Given the description of an element on the screen output the (x, y) to click on. 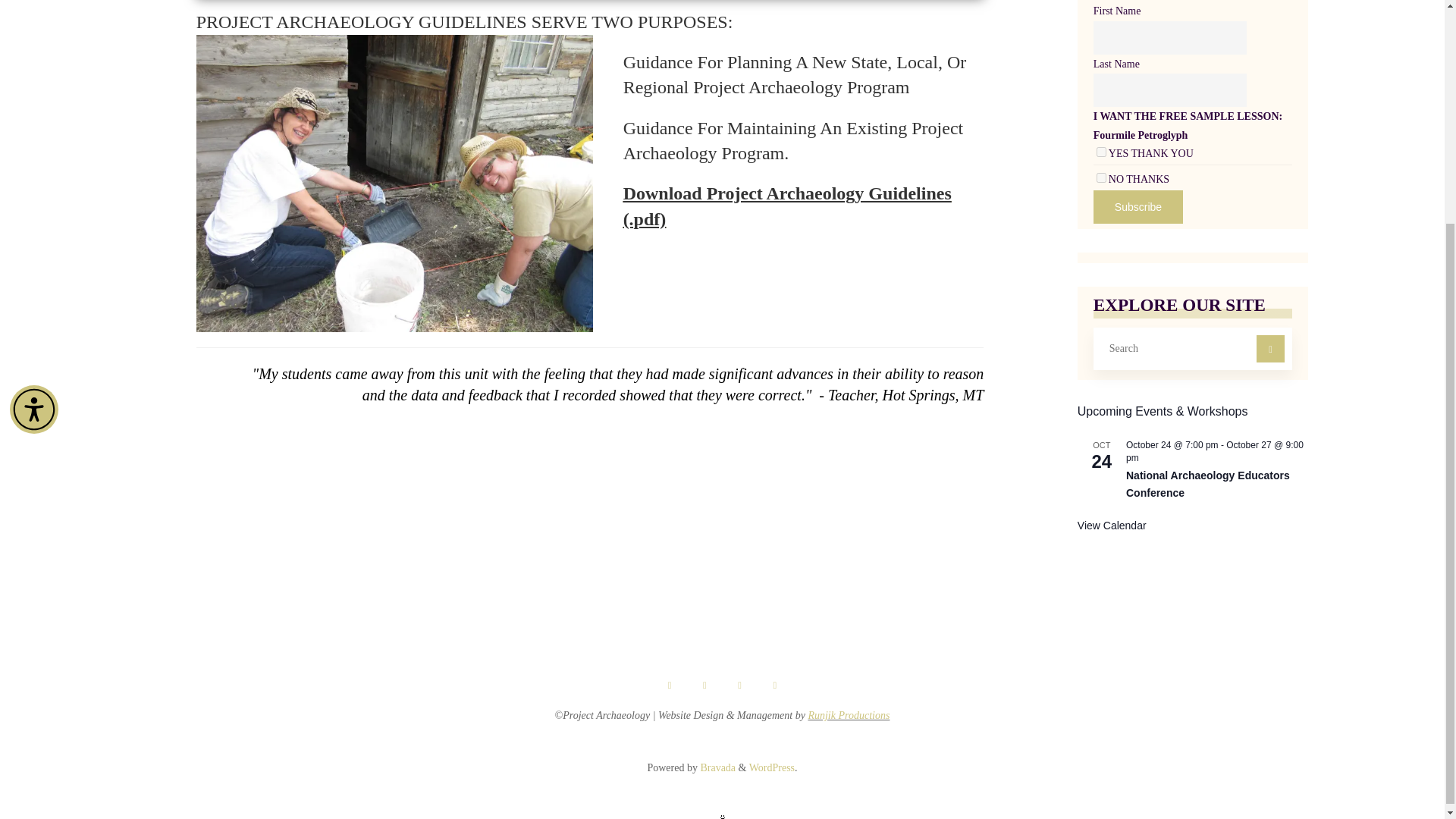
Email (670, 685)
Subscribe (1137, 206)
View more events. (1112, 525)
National Archaeology Educators Conference (1207, 484)
Accessibility Menu (34, 109)
